Given the description of an element on the screen output the (x, y) to click on. 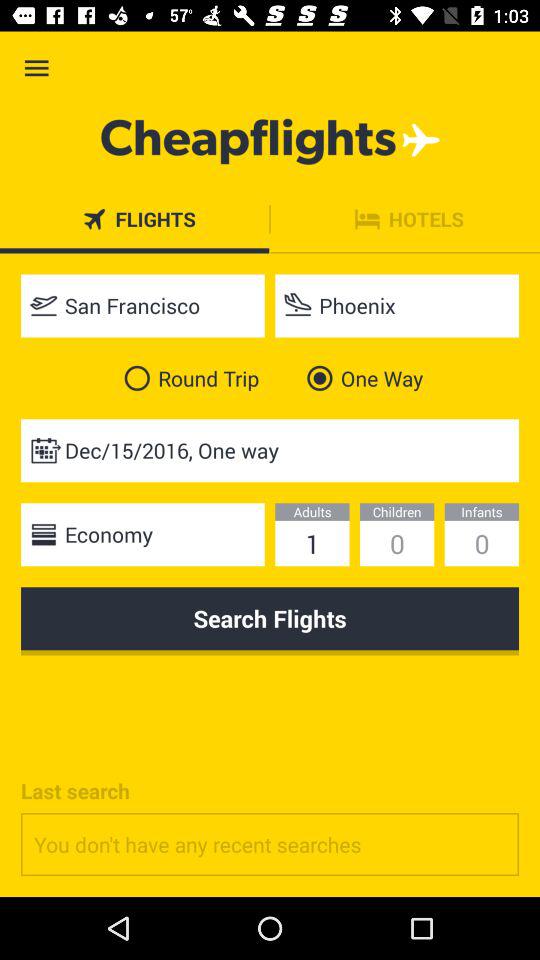
scroll to the economy item (142, 534)
